Given the description of an element on the screen output the (x, y) to click on. 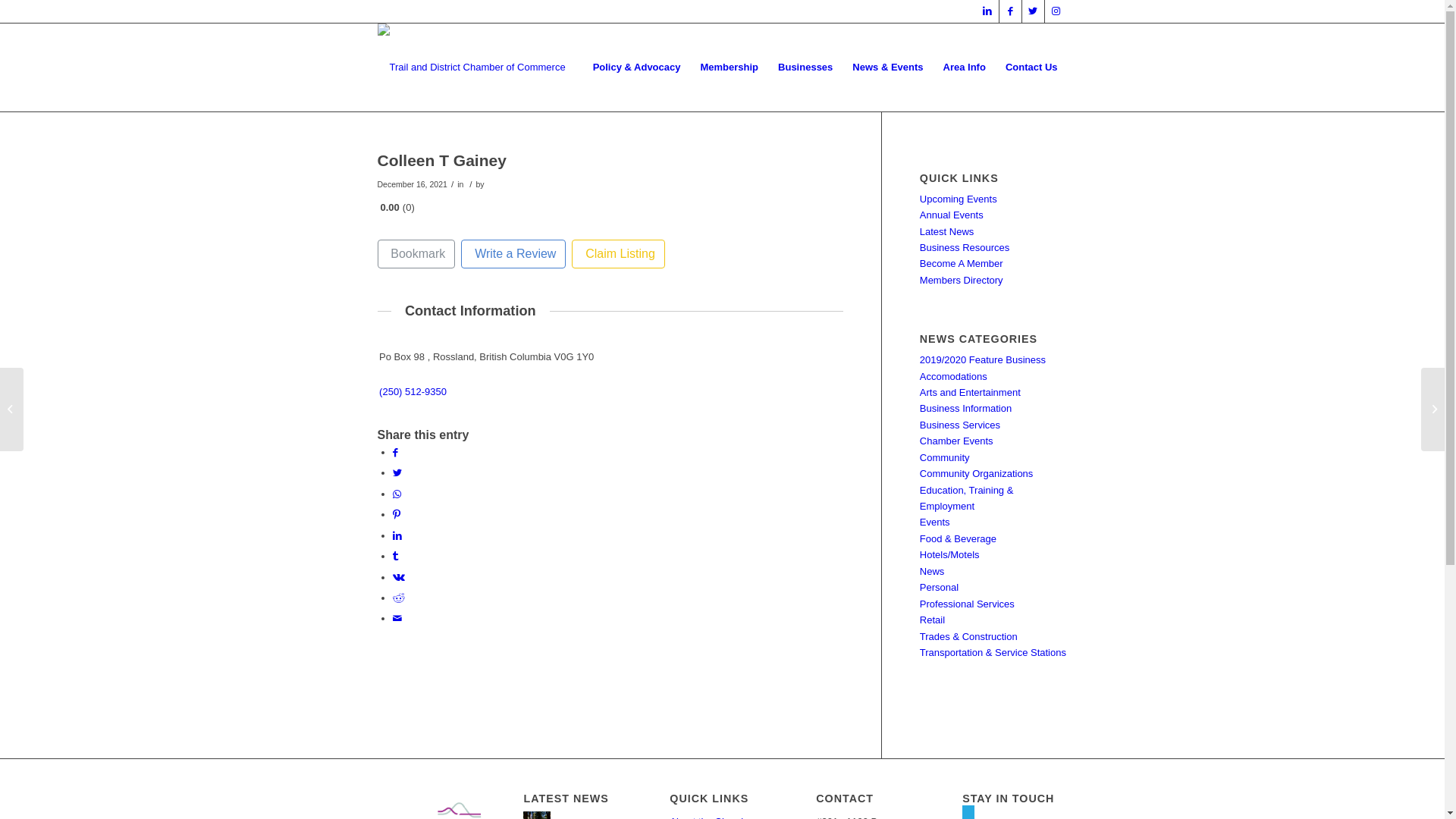
Policy & Advocacy Element type: text (636, 67)
Twitter Element type: hover (1033, 11)
Business Services Element type: text (959, 424)
(250) 512-9350 Element type: text (412, 391)
Food & Beverage Element type: text (957, 538)
Community Organizations Element type: text (976, 473)
Upcoming Events Element type: text (958, 198)
Personal Element type: text (938, 587)
Arts and Entertainment Element type: text (969, 392)
Colleen T Gainey Element type: text (441, 160)
Trades & Construction Element type: text (968, 636)
2019/2020 Feature Business Element type: text (982, 359)
News & Events Element type: text (887, 67)
Contact Us Element type: text (1031, 67)
Accomodations Element type: text (953, 375)
Bookmark Element type: text (416, 253)
Business Information Element type: text (965, 408)
Members Directory Element type: text (961, 279)
News Element type: text (931, 571)
Retail Element type: text (931, 619)
Facebook Element type: hover (1010, 11)
Hotels/Motels Element type: text (949, 554)
Claim Listing Element type: text (617, 253)
Education, Training & Employment Element type: text (966, 497)
Become A Member Element type: text (961, 263)
Community Element type: text (944, 457)
Instagram Element type: hover (1055, 11)
Events Element type: text (934, 521)
Write a Review Element type: text (513, 253)
Transportation & Service Stations Element type: text (992, 652)
Membership Element type: text (729, 67)
Annual Events Element type: text (951, 214)
Business Resources Element type: text (964, 247)
Chamber Events Element type: text (956, 440)
Professional Services Element type: text (966, 603)
LinkedIn Element type: hover (987, 11)
Latest News Element type: text (946, 231)
Area Info Element type: text (964, 67)
Businesses Element type: text (805, 67)
